Given the description of an element on the screen output the (x, y) to click on. 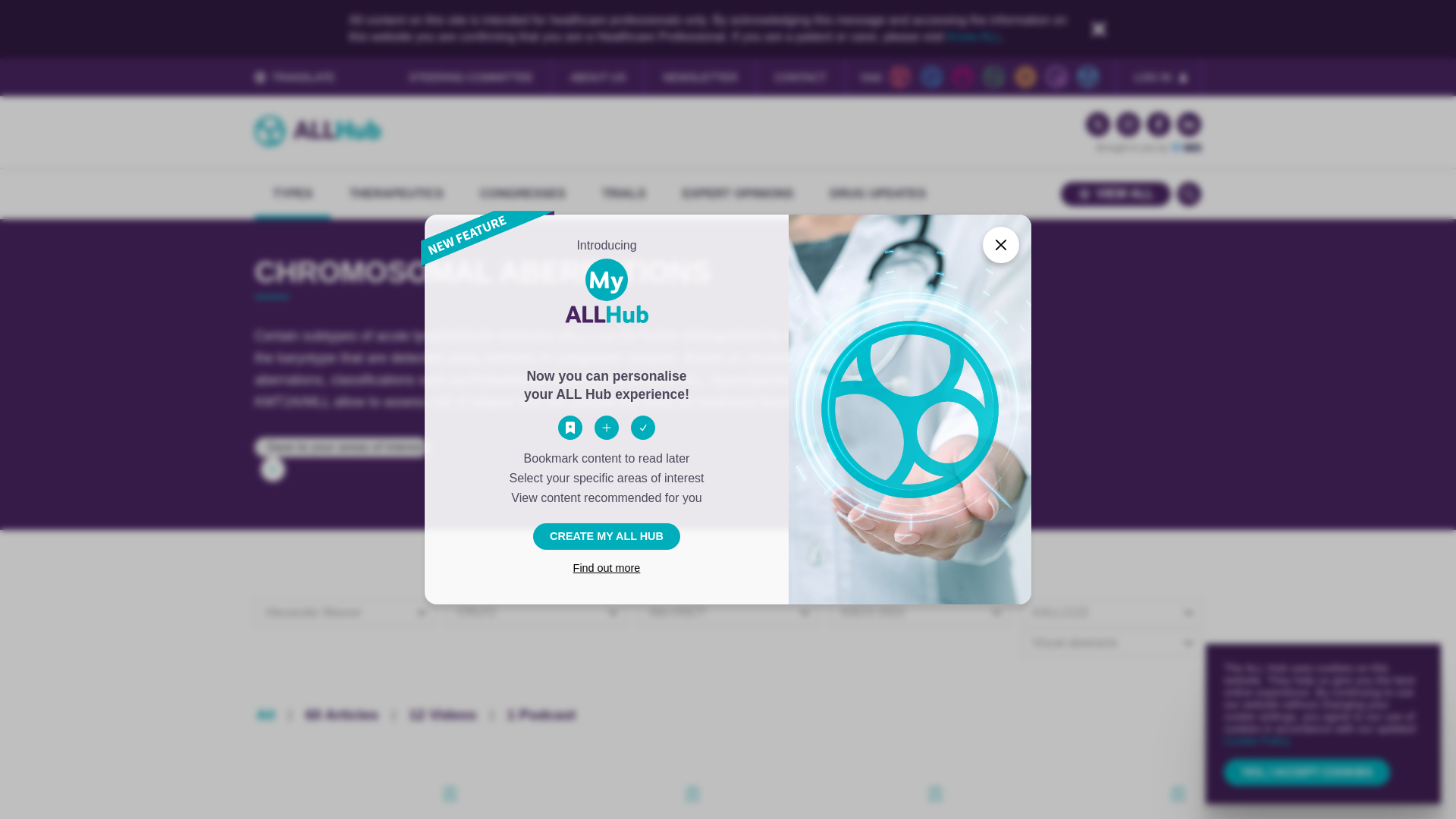
CONTACT (801, 77)
Brought to you by (1148, 147)
Know ALL (974, 36)
Find out more (606, 567)
CREATE MY ALL HUB (606, 536)
NEWSLETTER (700, 77)
STEERING COMMITTEE (470, 77)
  TRANSLATE (294, 77)
LOG IN (1153, 77)
Cookie Policy (1257, 740)
YES, I ACCEPT COOKIES (1307, 772)
ABOUT US (598, 77)
